Given the description of an element on the screen output the (x, y) to click on. 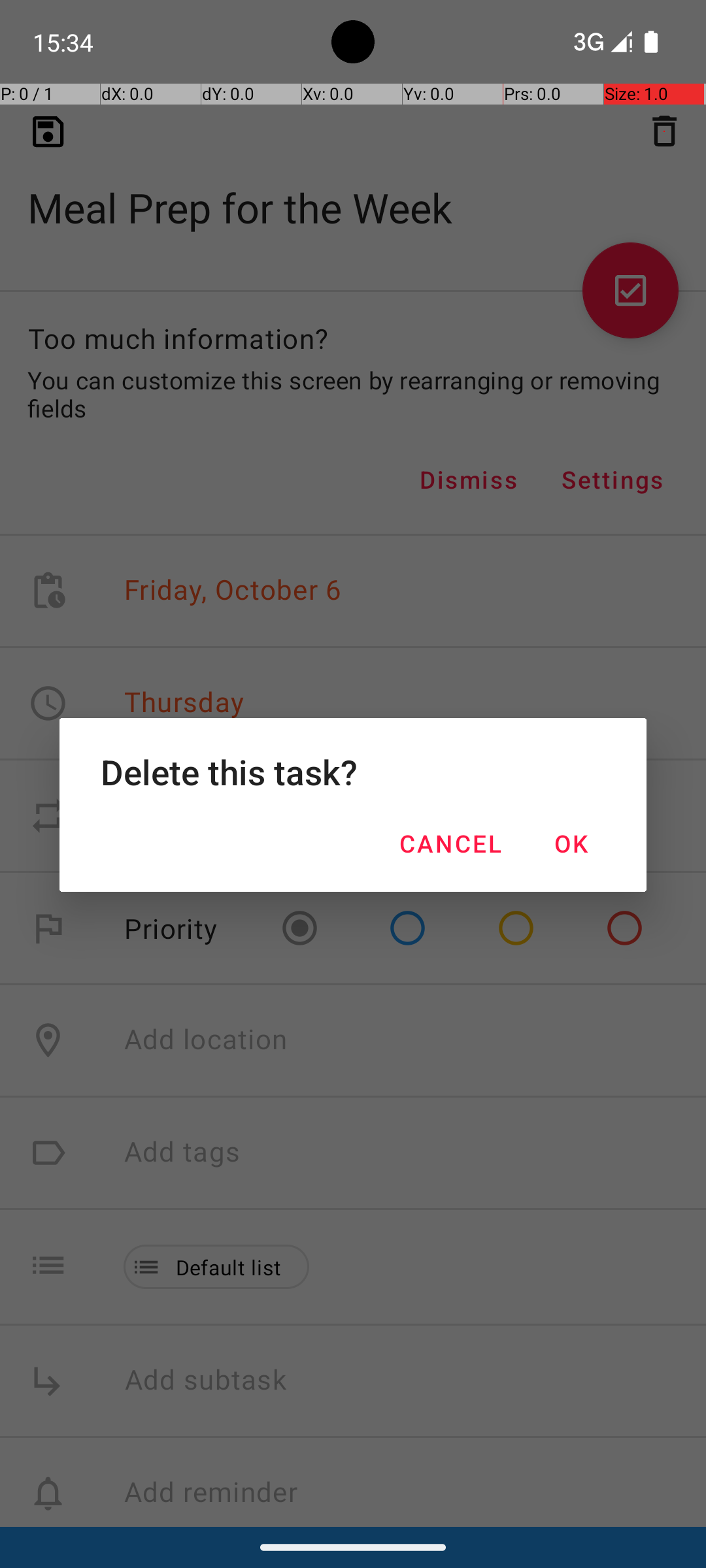
Delete this task? Element type: android.widget.TextView (352, 771)
